Given the description of an element on the screen output the (x, y) to click on. 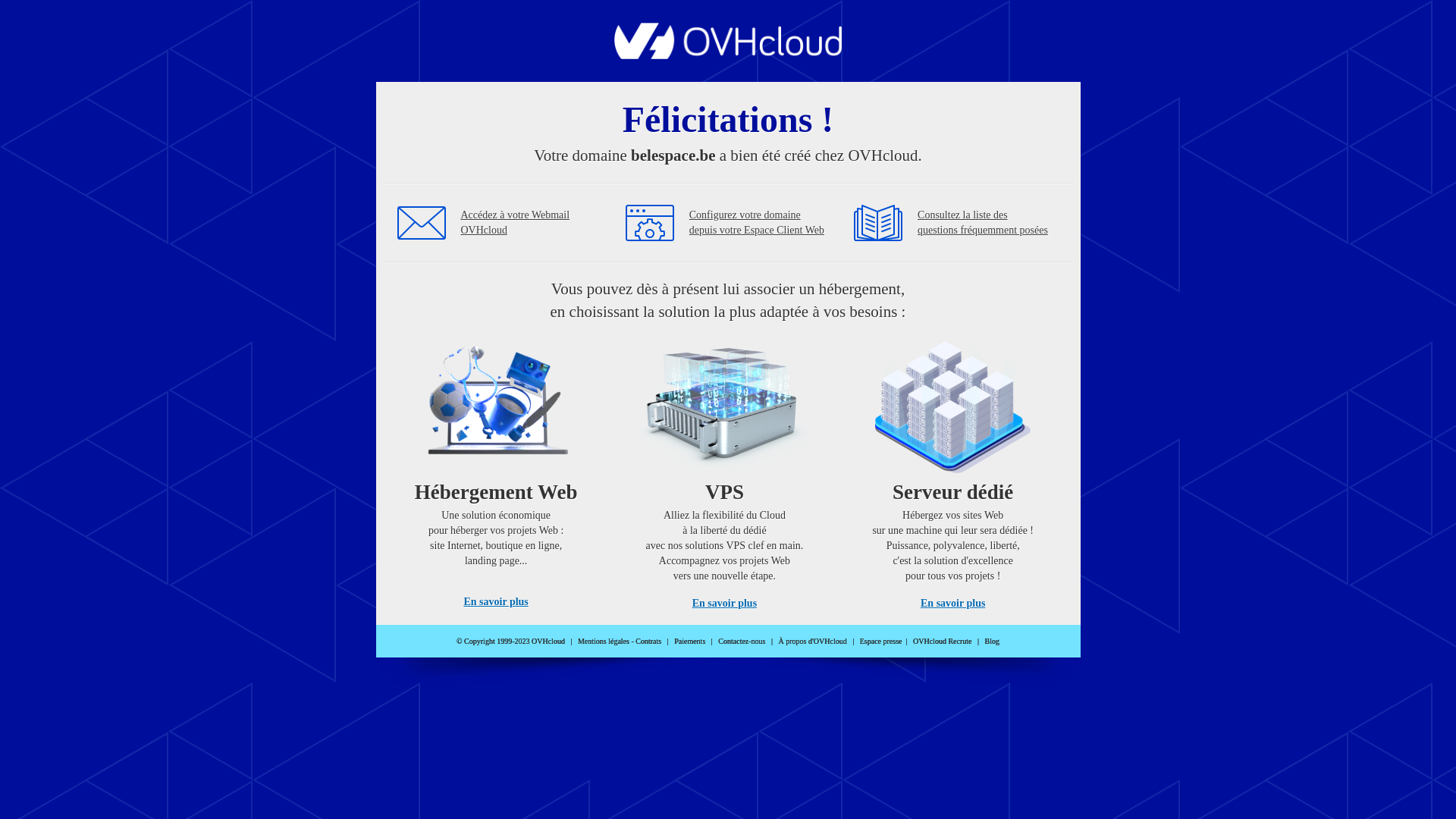
VPS Element type: hover (724, 469)
Espace presse Element type: text (880, 641)
Configurez votre domaine
depuis votre Espace Client Web Element type: text (756, 222)
Blog Element type: text (992, 641)
OVHcloud Recrute Element type: text (942, 641)
Paiements Element type: text (689, 641)
En savoir plus Element type: text (724, 602)
Contactez-nous Element type: text (741, 641)
En savoir plus Element type: text (495, 601)
En savoir plus Element type: text (952, 602)
OVHcloud Element type: hover (727, 54)
